Given the description of an element on the screen output the (x, y) to click on. 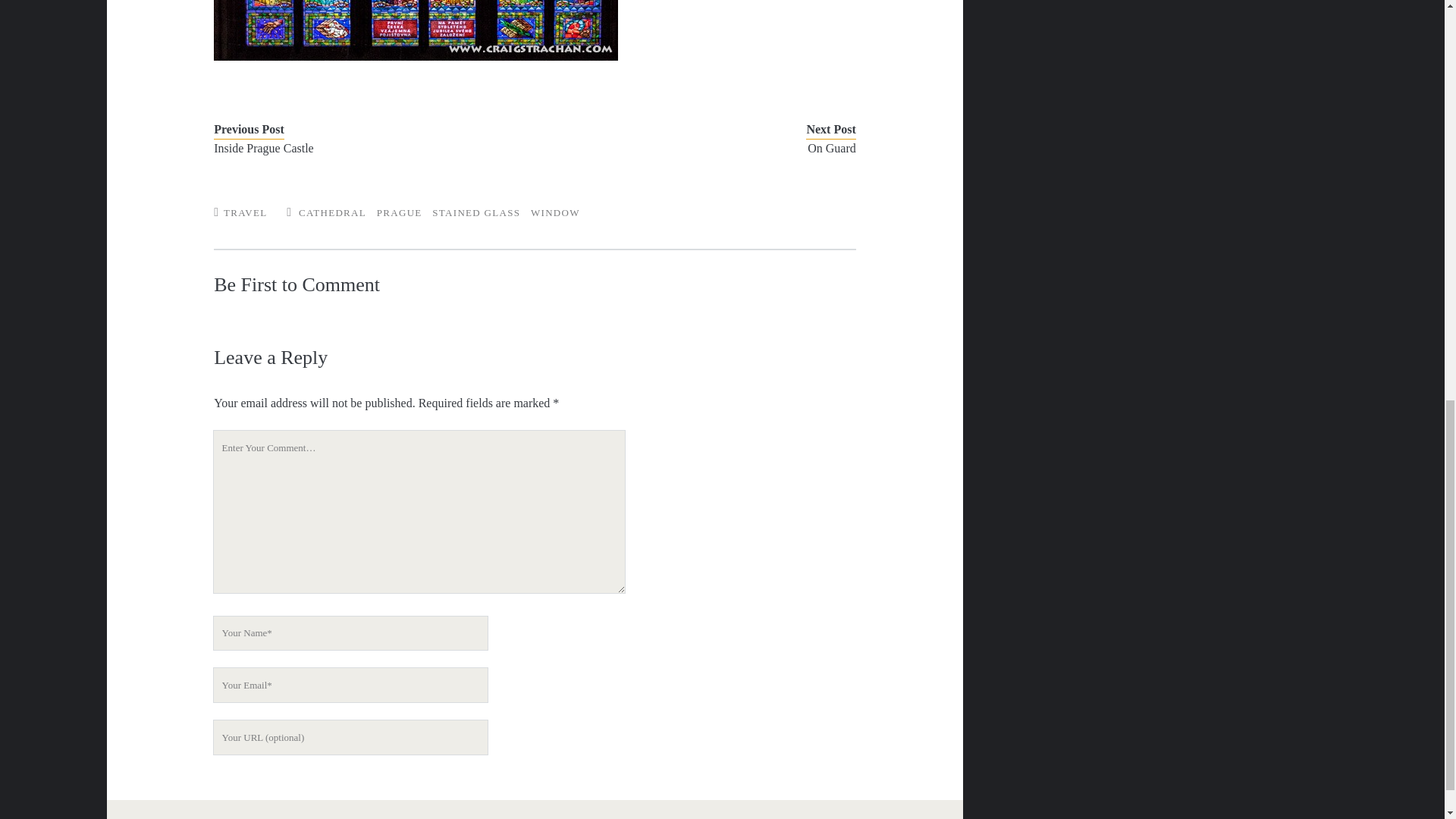
PRAGUE (399, 212)
View all posts tagged prague (399, 212)
Inside Prague Castle (361, 148)
TRAVEL (245, 212)
On Guard (708, 148)
WINDOW (555, 212)
View all posts tagged window (555, 212)
View all posts tagged stained glass (475, 212)
CATHEDRAL (332, 212)
STAINED GLASS (475, 212)
View all posts tagged cathedral (332, 212)
View all posts in Travel (245, 212)
